Given the description of an element on the screen output the (x, y) to click on. 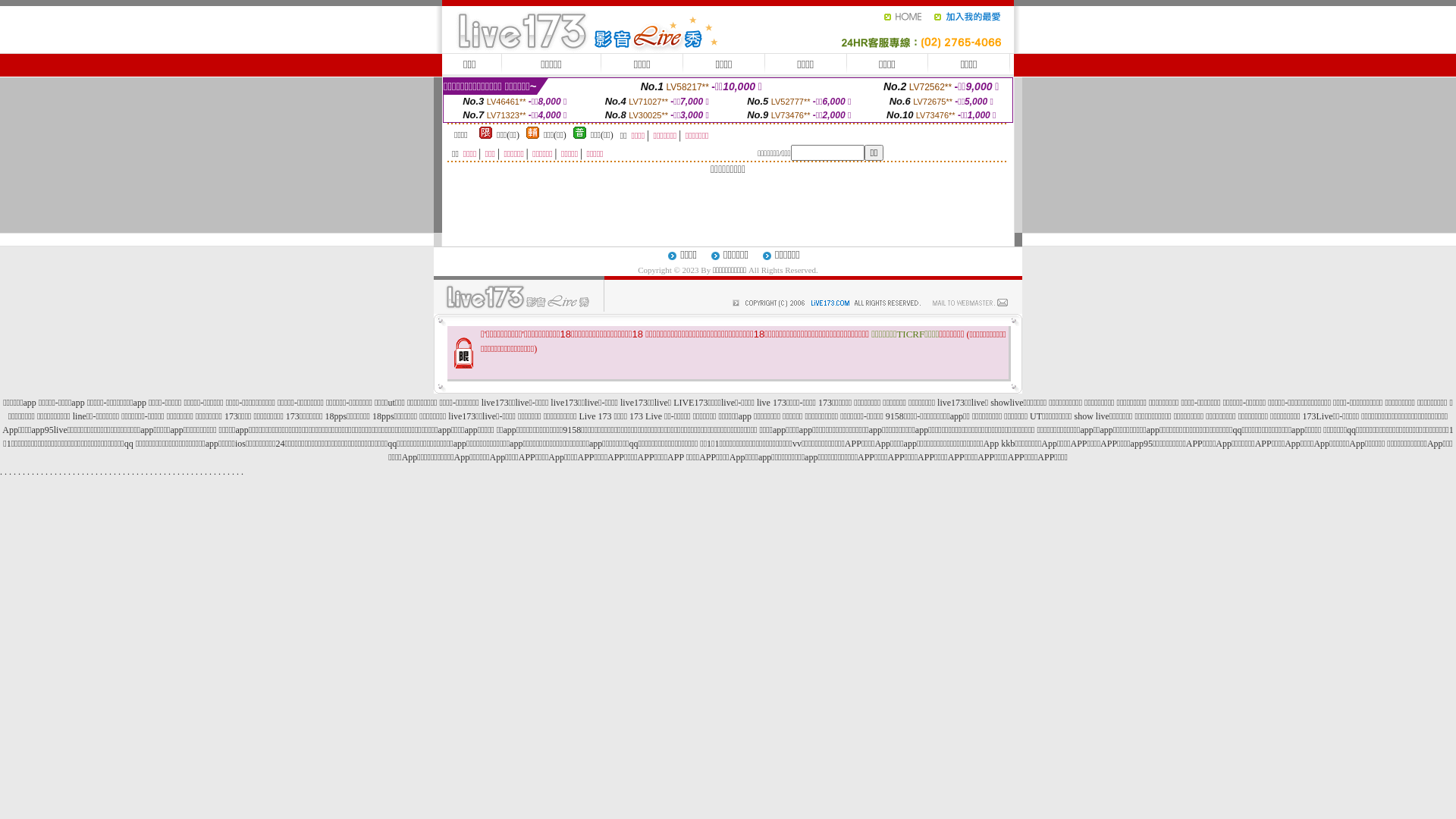
. Element type: text (205, 471)
. Element type: text (155, 471)
. Element type: text (228, 471)
. Element type: text (37, 471)
. Element type: text (46, 471)
. Element type: text (60, 471)
. Element type: text (101, 471)
. Element type: text (87, 471)
. Element type: text (82, 471)
. Element type: text (14, 471)
. Element type: text (96, 471)
. Element type: text (64, 471)
. Element type: text (55, 471)
. Element type: text (137, 471)
. Element type: text (196, 471)
. Element type: text (114, 471)
. Element type: text (164, 471)
. Element type: text (41, 471)
. Element type: text (160, 471)
. Element type: text (192, 471)
. Element type: text (178, 471)
. Element type: text (142, 471)
. Element type: text (223, 471)
. Element type: text (51, 471)
. Element type: text (210, 471)
. Element type: text (214, 471)
. Element type: text (219, 471)
. Element type: text (19, 471)
. Element type: text (128, 471)
. Element type: text (1, 471)
. Element type: text (5, 471)
. Element type: text (201, 471)
. Element type: text (132, 471)
. Element type: text (119, 471)
. Element type: text (23, 471)
. Element type: text (183, 471)
. Element type: text (151, 471)
. Element type: text (32, 471)
. Element type: text (92, 471)
. Element type: text (28, 471)
. Element type: text (187, 471)
. Element type: text (110, 471)
. Element type: text (69, 471)
. Element type: text (173, 471)
. Element type: text (10, 471)
. Element type: text (78, 471)
. Element type: text (146, 471)
. Element type: text (242, 471)
. Element type: text (233, 471)
. Element type: text (123, 471)
. Element type: text (73, 471)
. Element type: text (237, 471)
. Element type: text (169, 471)
. Element type: text (105, 471)
